Given the description of an element on the screen output the (x, y) to click on. 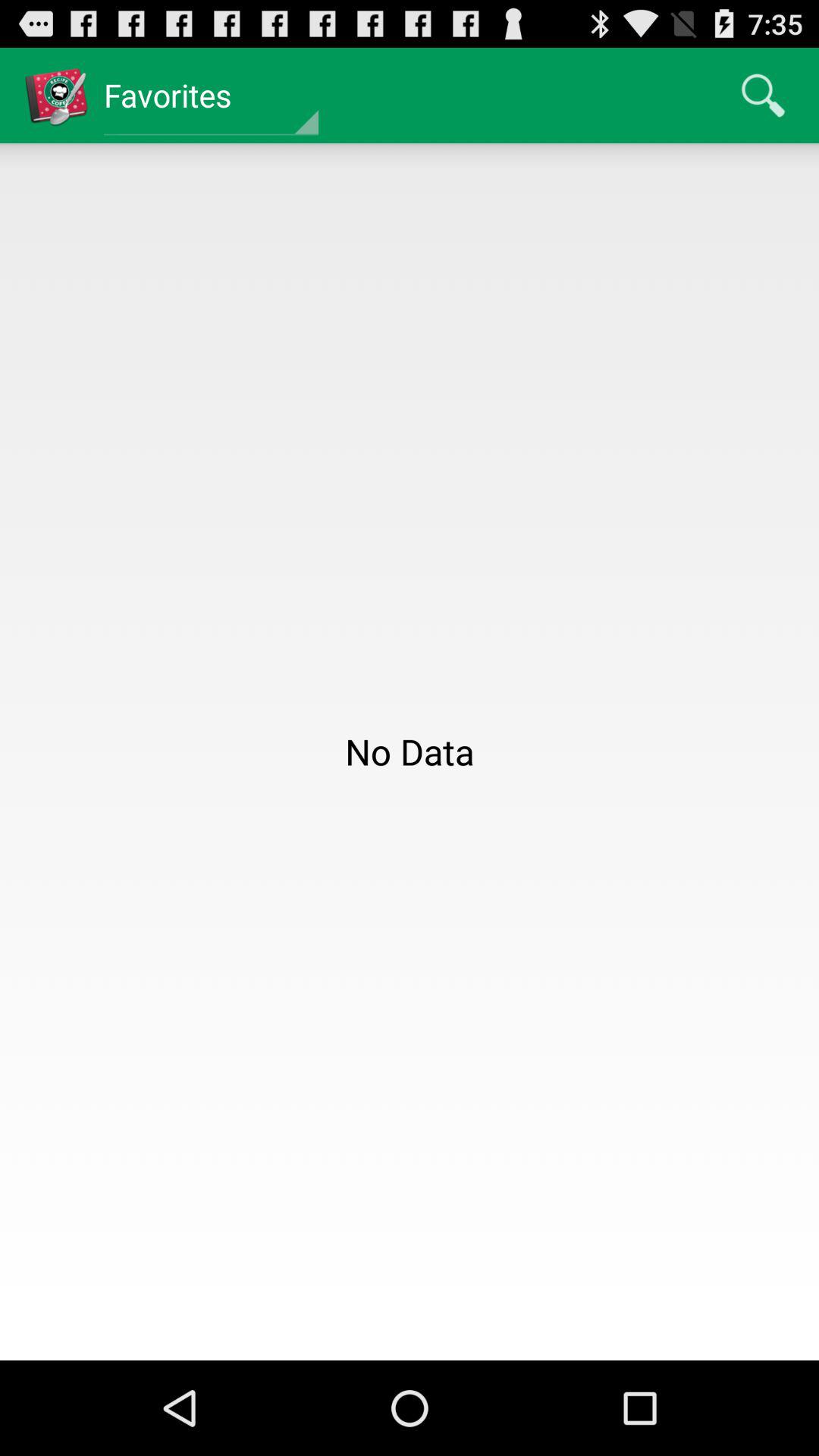
select the icon next to the favorites (763, 95)
